Given the description of an element on the screen output the (x, y) to click on. 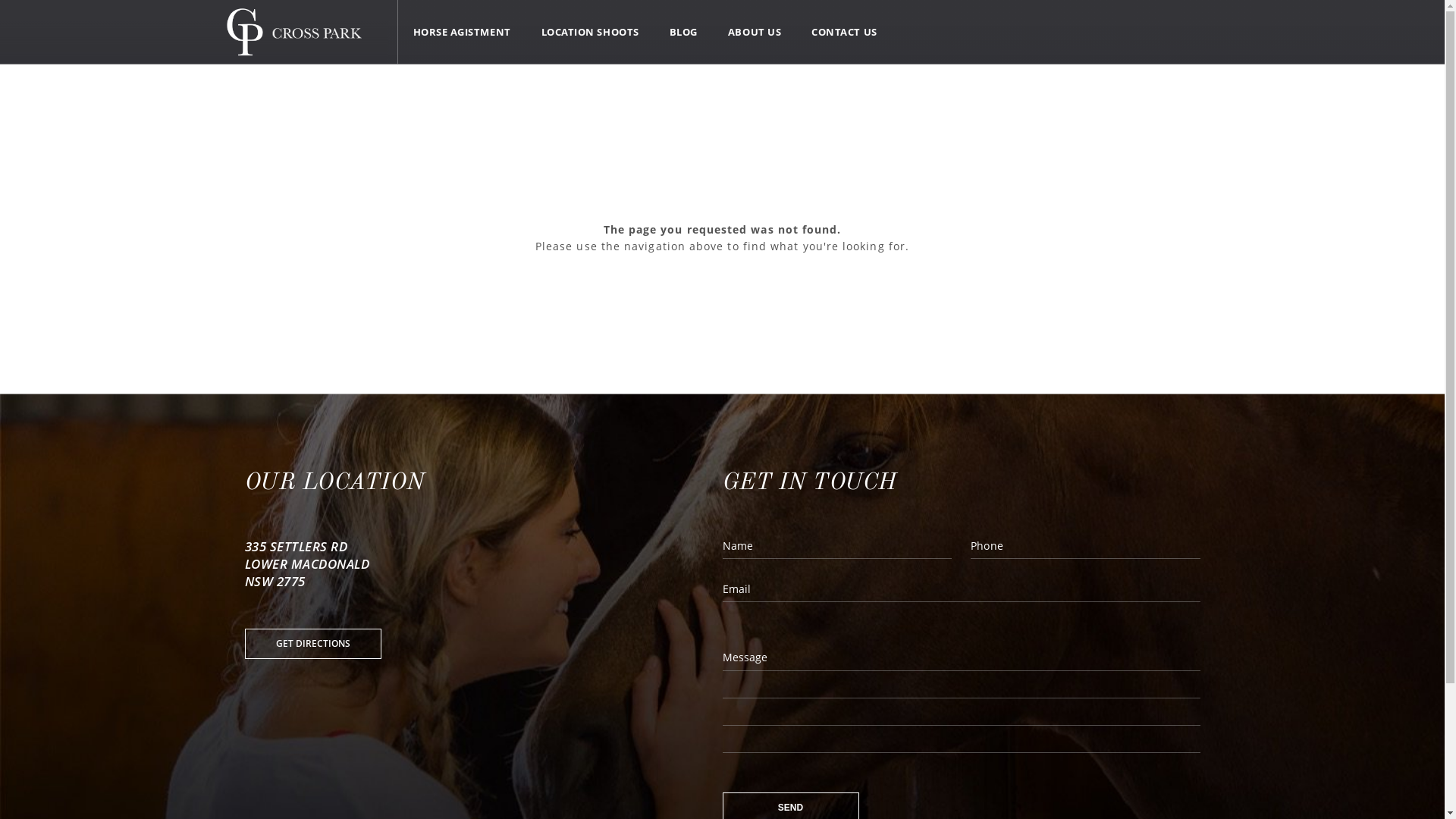
HORSE AGISTMENT Element type: text (462, 31)
ABOUT US Element type: text (754, 31)
GET DIRECTIONS Element type: text (312, 643)
LOCATION SHOOTS Element type: text (590, 31)
BLOG Element type: text (683, 31)
CONTACT US Element type: text (843, 31)
